Given the description of an element on the screen output the (x, y) to click on. 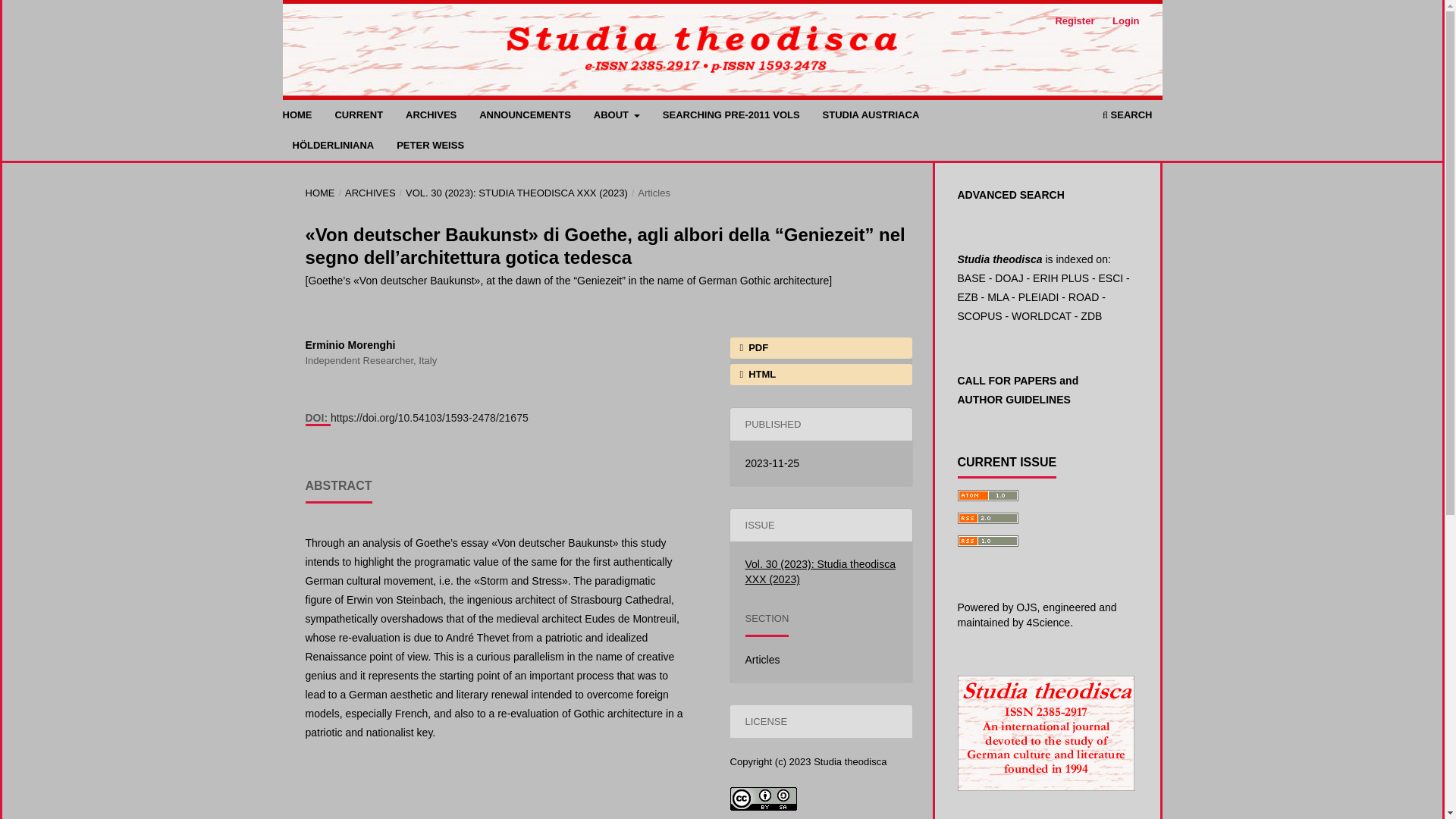
HOME (319, 192)
PETER WEISS (429, 147)
Register (1074, 20)
BASE (970, 277)
ADVANCED SEARCH (1010, 194)
CALL FOR PAPERS and AUTHOR GUIDELINES (1013, 399)
CALL FOR PAPERS and AUTHOR GUIDELINES (1007, 380)
ARCHIVES (430, 117)
ANNOUNCEMENTS (525, 117)
Login (1126, 20)
ABOUT (616, 117)
ERIH PLUS (1060, 277)
SEARCHING PRE-2011 VOLS (731, 117)
HTML (820, 373)
EZB (966, 297)
